Given the description of an element on the screen output the (x, y) to click on. 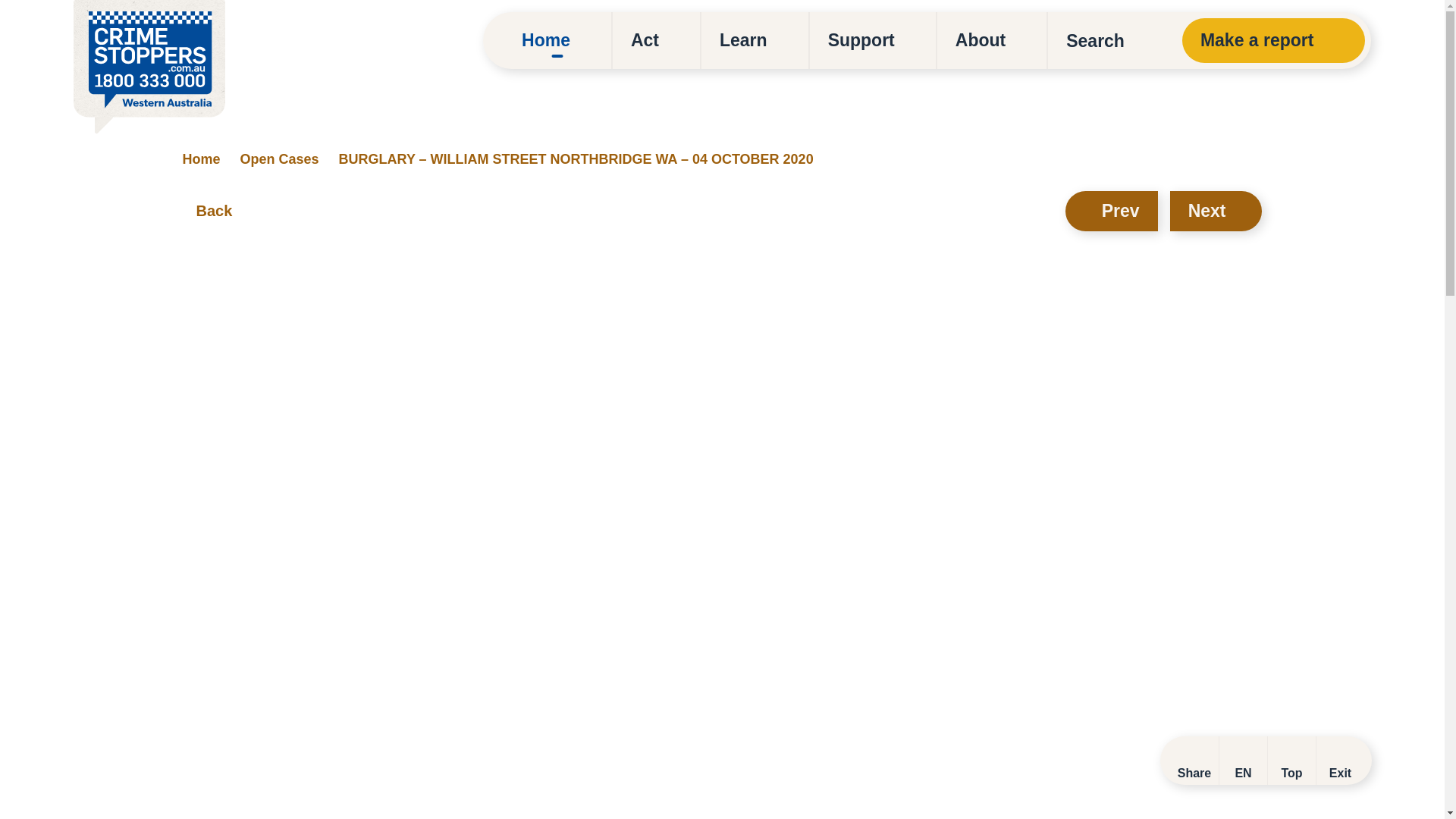
Act (656, 40)
Home (557, 40)
Make a report (1273, 40)
Learn (754, 40)
About (991, 40)
Support (872, 40)
